Given the description of an element on the screen output the (x, y) to click on. 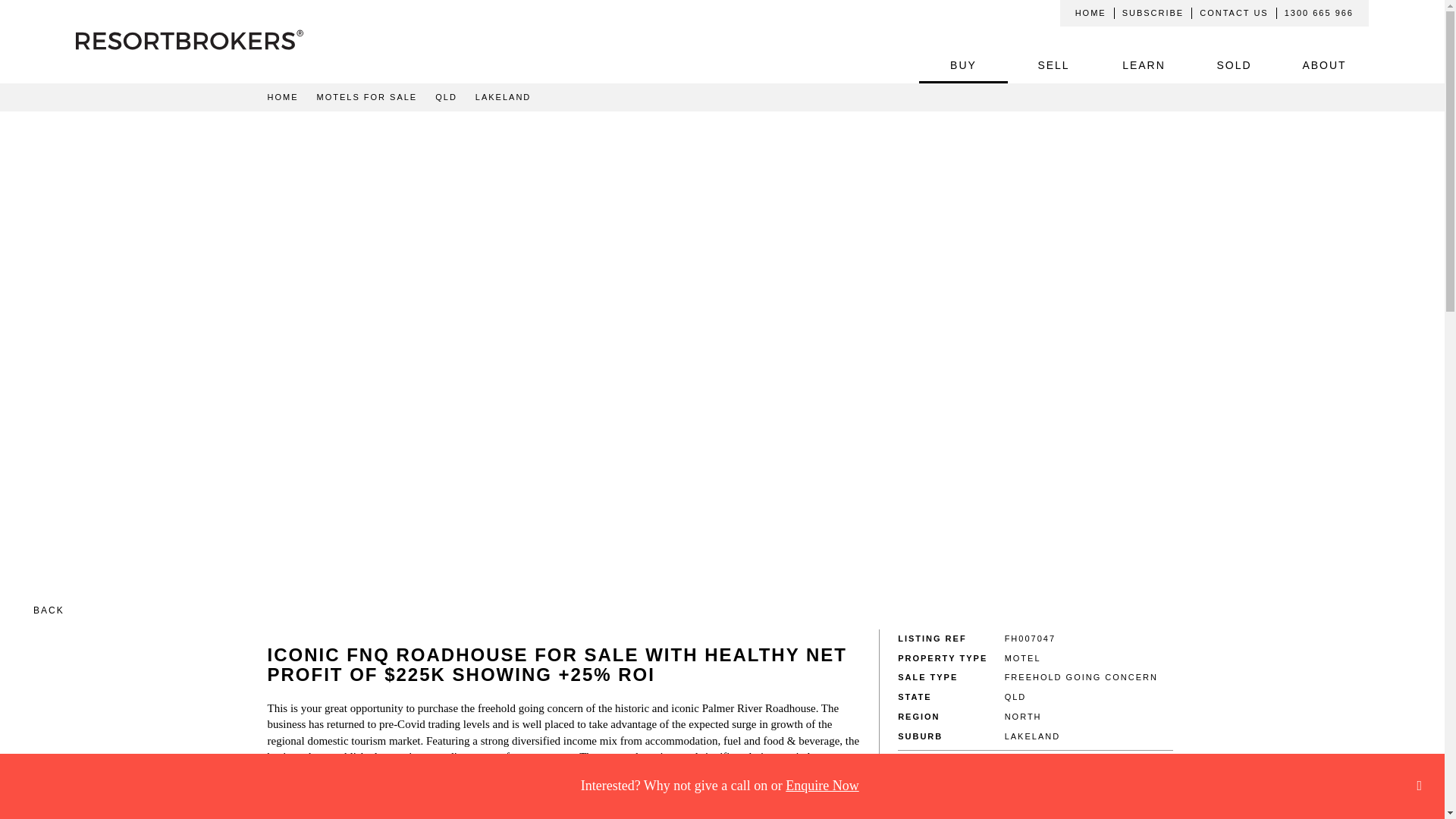
SUBSCRIBE (1153, 12)
BUY (962, 65)
CONTACT US (1234, 12)
SELL (1053, 65)
HOME (1091, 12)
LEARN (1143, 65)
1300 665 966 (1318, 12)
